Given the description of an element on the screen output the (x, y) to click on. 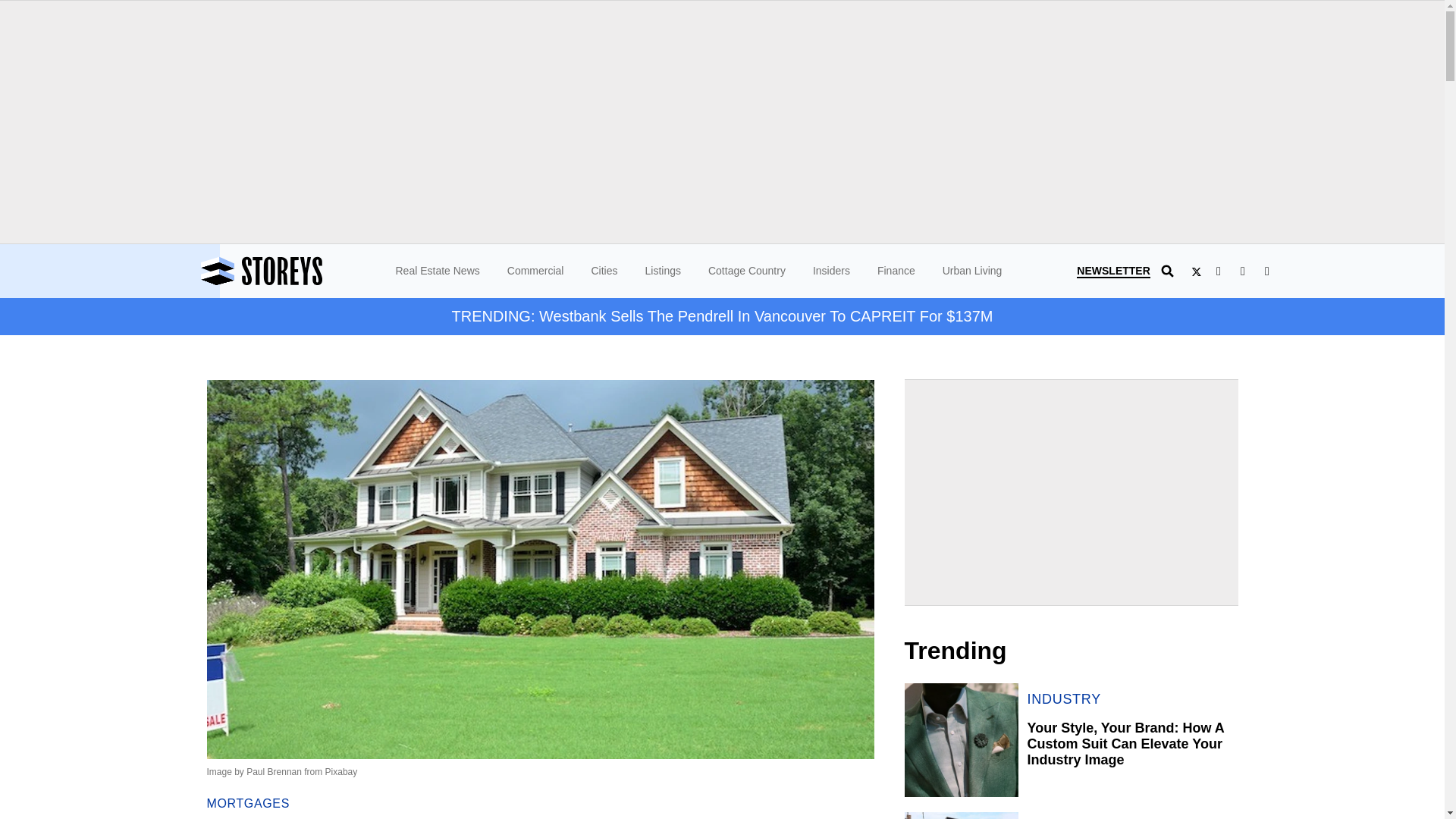
Cottage Country (746, 270)
Listings (662, 270)
Real Estate News (437, 270)
Storeys - Real Estate News in Canada (302, 270)
Cities (603, 270)
Commercial (535, 270)
